Given the description of an element on the screen output the (x, y) to click on. 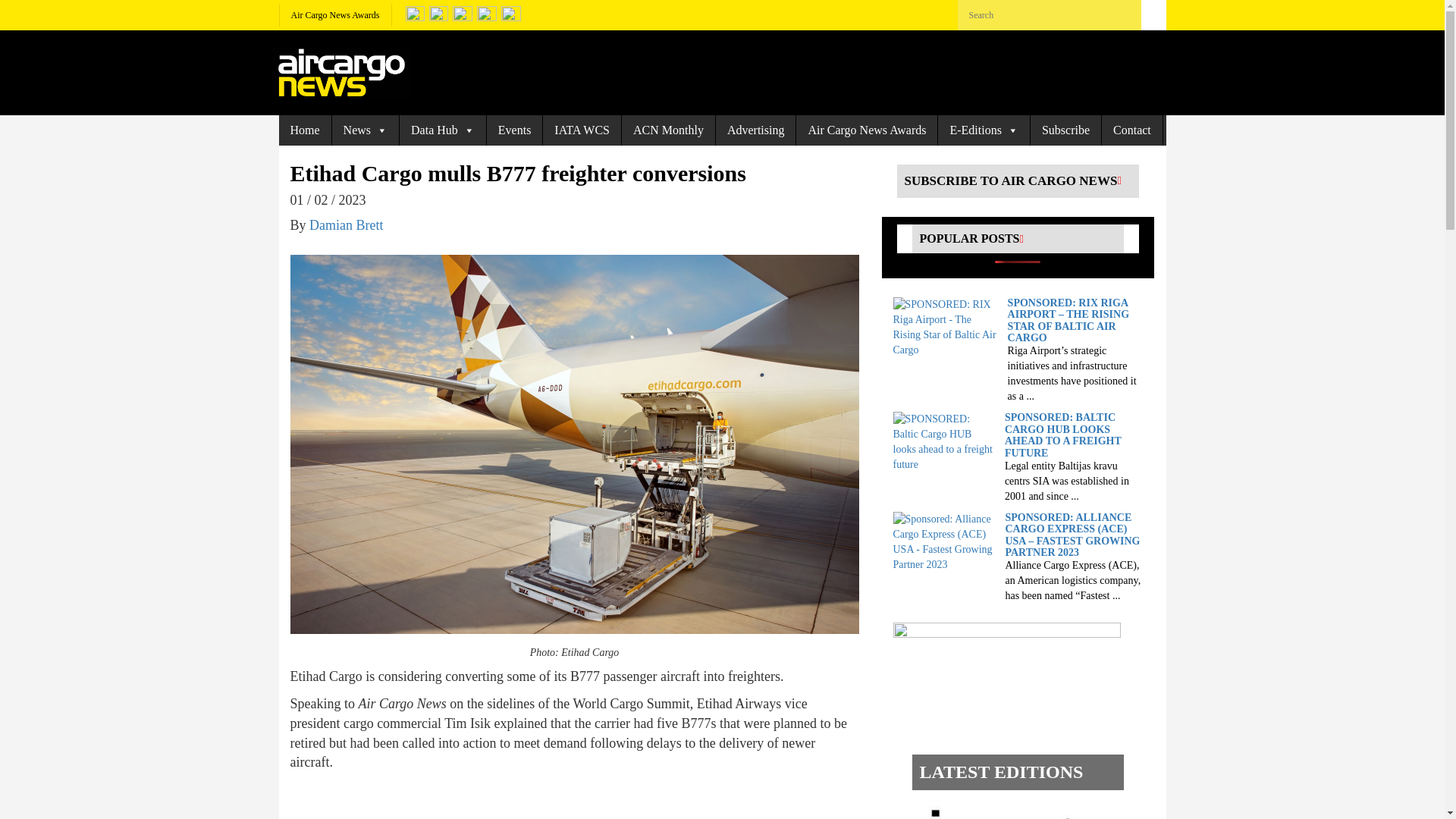
News (364, 130)
SPONSORED: Baltic Cargo HUB looks ahead to a freight future (945, 441)
Home (305, 130)
Air Cargo News Awards (335, 14)
